Given the description of an element on the screen output the (x, y) to click on. 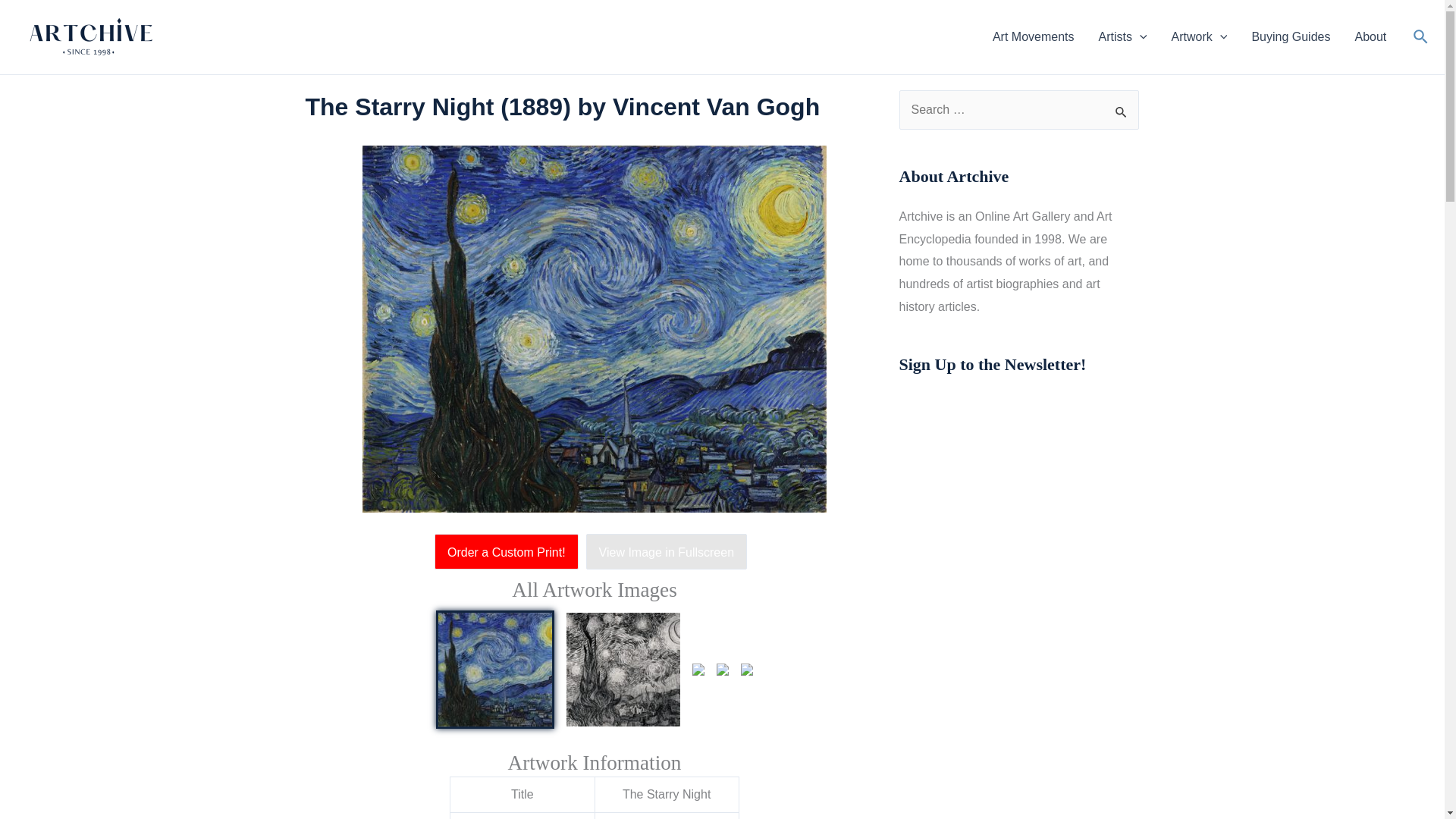
Artists (1122, 36)
About (1369, 36)
Order a Custom Print! (509, 552)
Art Movements (1032, 36)
Artwork (1199, 36)
Buying Guides (1290, 36)
